Given the description of an element on the screen output the (x, y) to click on. 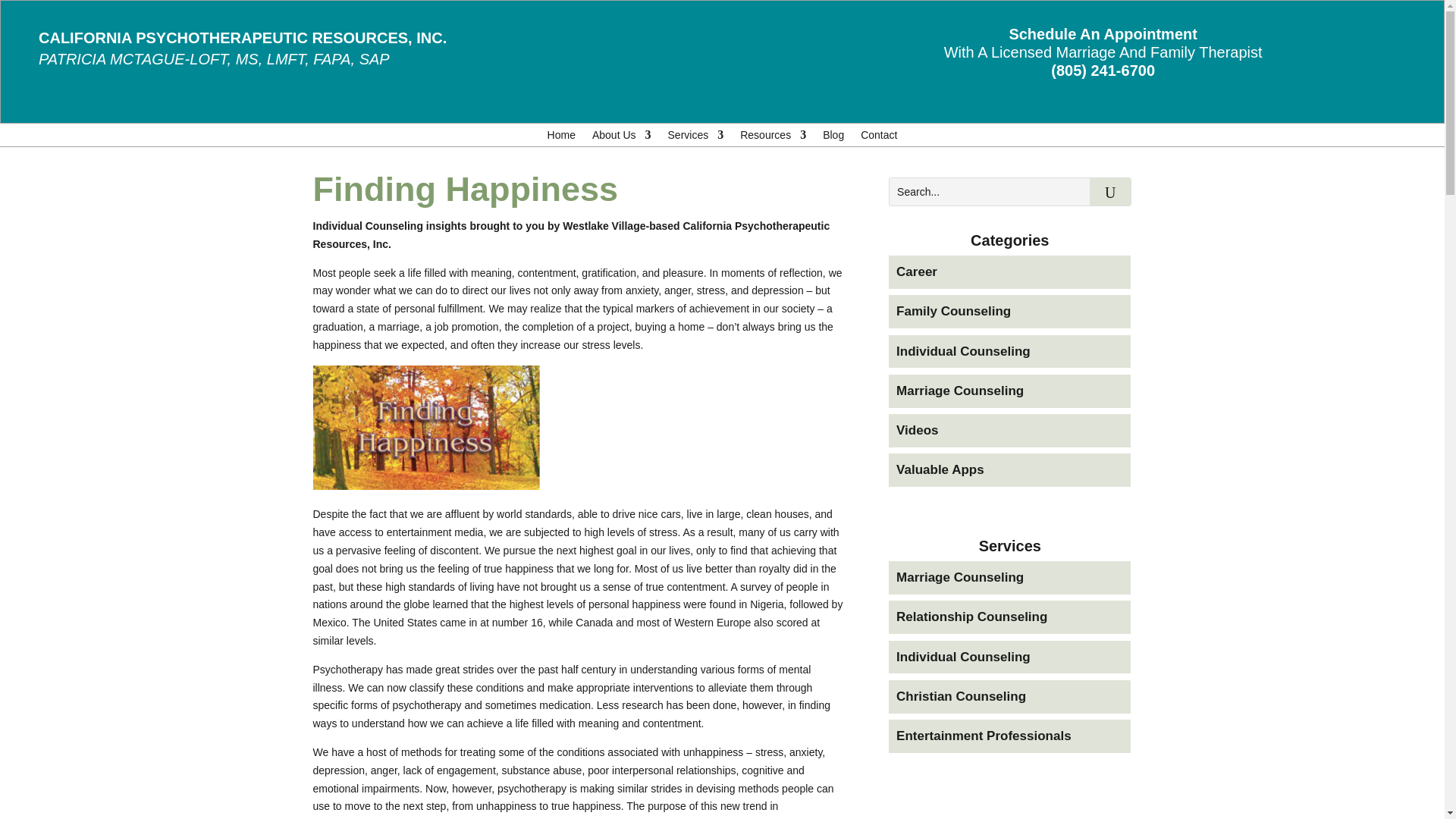
Blog (833, 137)
Search (1110, 191)
Search (1110, 191)
Contact (878, 137)
About Us (621, 137)
Resources (772, 137)
Services (695, 137)
Home (561, 137)
